Given the description of an element on the screen output the (x, y) to click on. 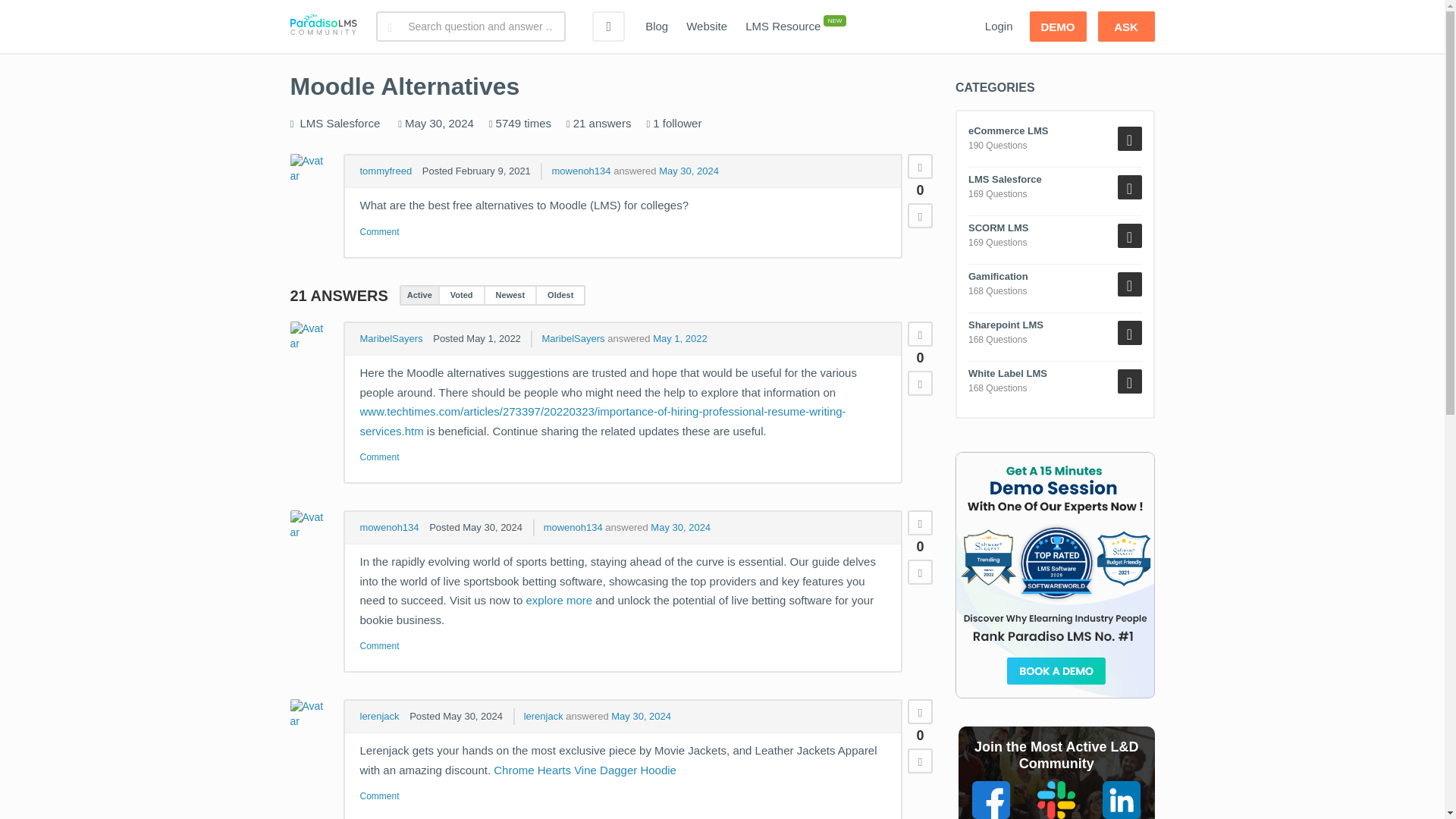
Website (706, 26)
Active (419, 294)
Newest (509, 294)
Up vote this post (920, 166)
DEMO (1057, 26)
Search for: (470, 26)
Down vote this post (920, 215)
Comments (378, 456)
Oldest (560, 294)
Voted (461, 294)
LMS Salesforce (339, 123)
Website (706, 26)
Down vote this post (920, 571)
LMS Resource (782, 26)
Comment (378, 231)
